Given the description of an element on the screen output the (x, y) to click on. 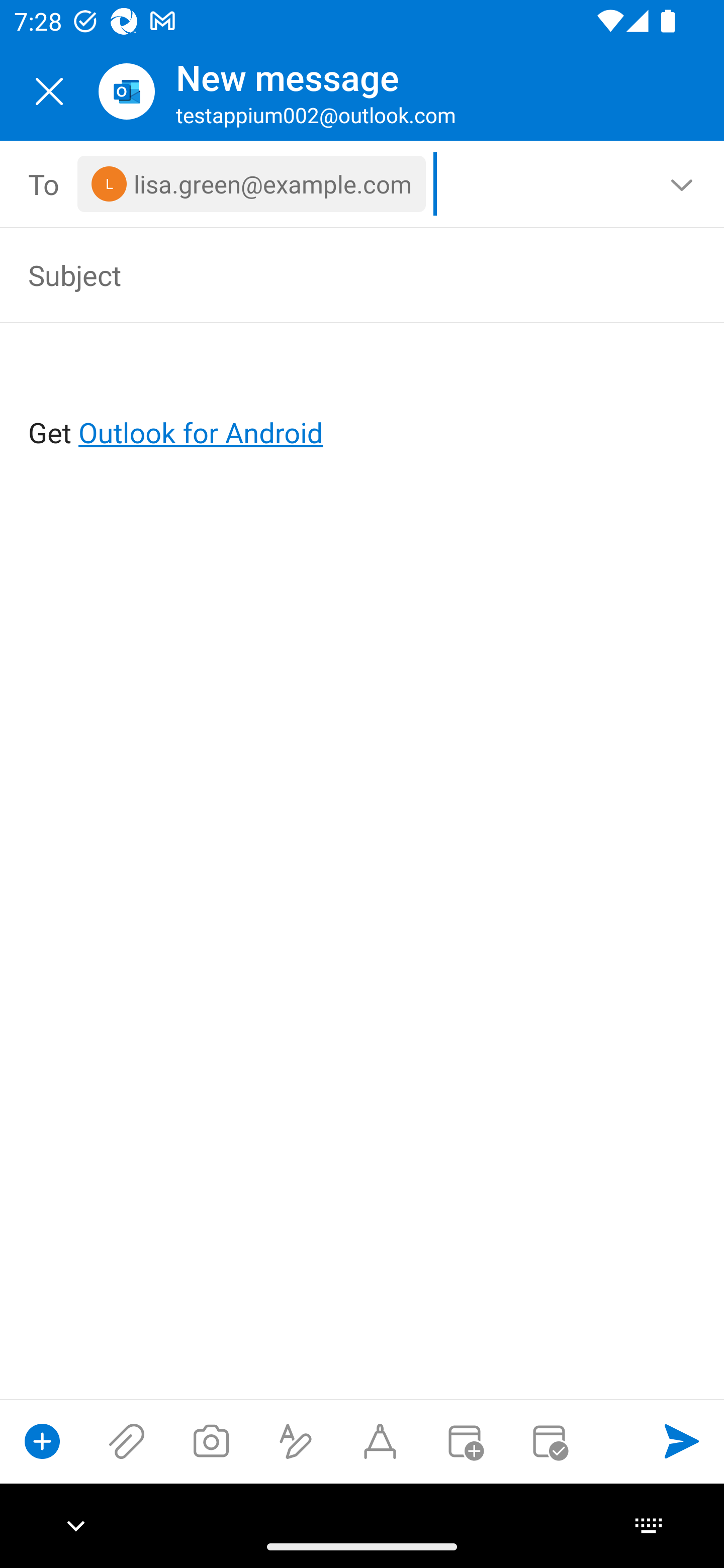
Close (49, 91)
To, 1 recipient <lisa.green@example.com> (362, 184)
Subject (333, 274)


Get Outlook for Android (363, 400)
Show compose options (42, 1440)
Attach files (126, 1440)
Take a photo (210, 1440)
Show formatting options (295, 1440)
Start Ink compose (380, 1440)
Convert to event (464, 1440)
Send availability (548, 1440)
Send (681, 1440)
